Given the description of an element on the screen output the (x, y) to click on. 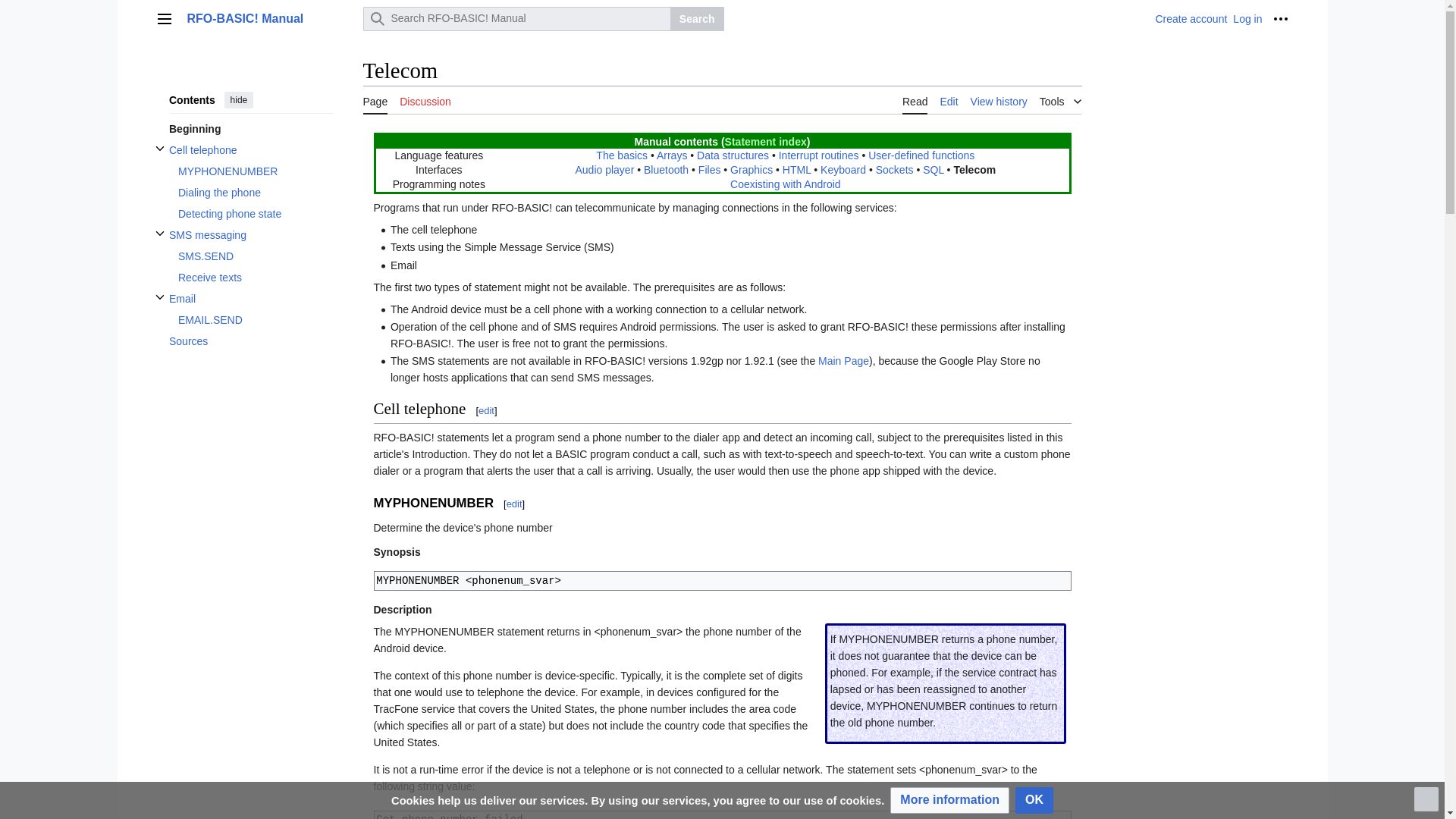
Receive texts (254, 277)
SMS messaging (249, 234)
Log in (1247, 19)
Discussion (424, 100)
Toggle Email subsection (159, 297)
Toggle SMS messaging subsection (159, 233)
View history (999, 100)
Detecting phone state (254, 213)
Sources (249, 341)
